Given the description of an element on the screen output the (x, y) to click on. 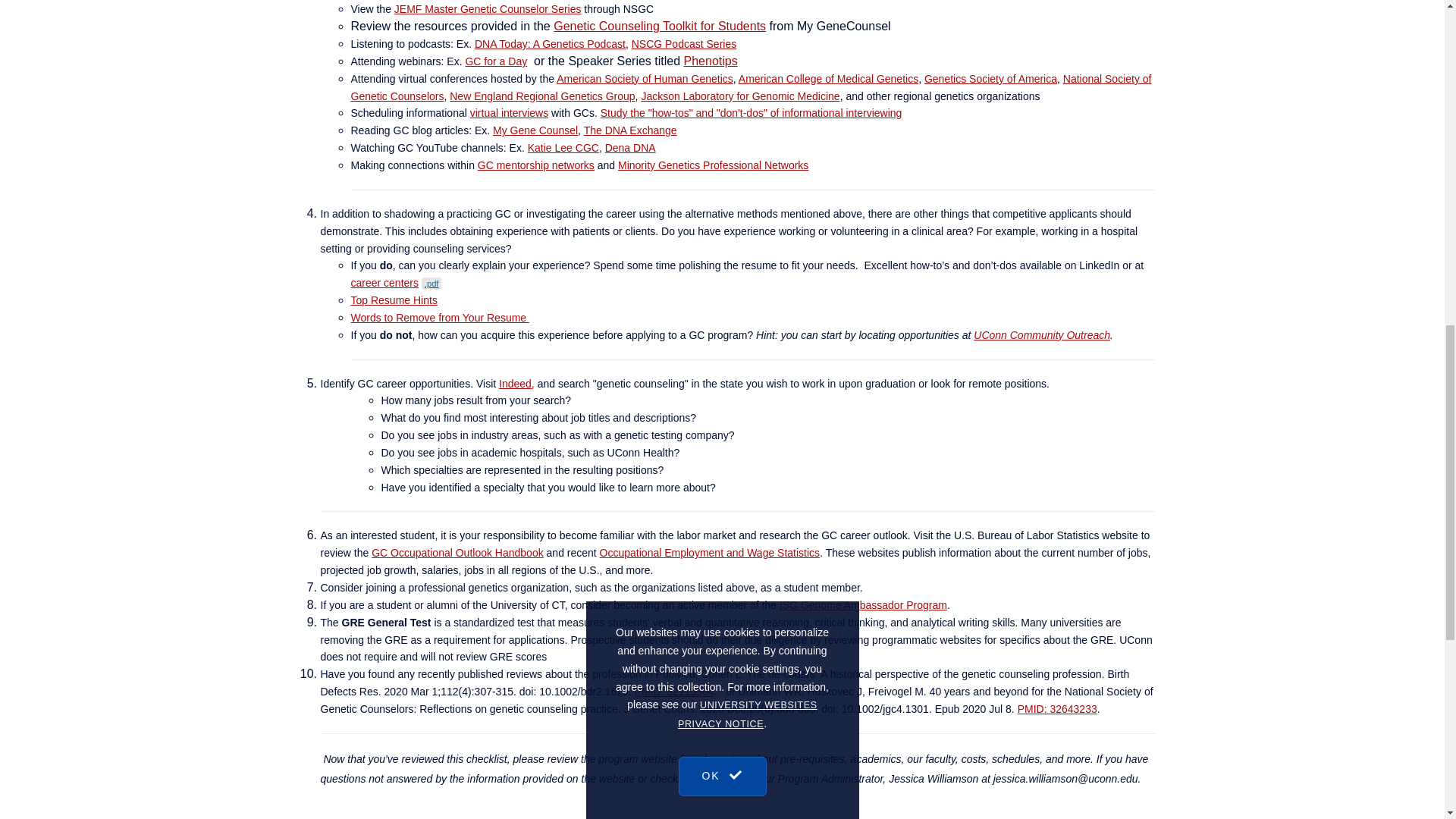
OK (721, 20)
